Given the description of an element on the screen output the (x, y) to click on. 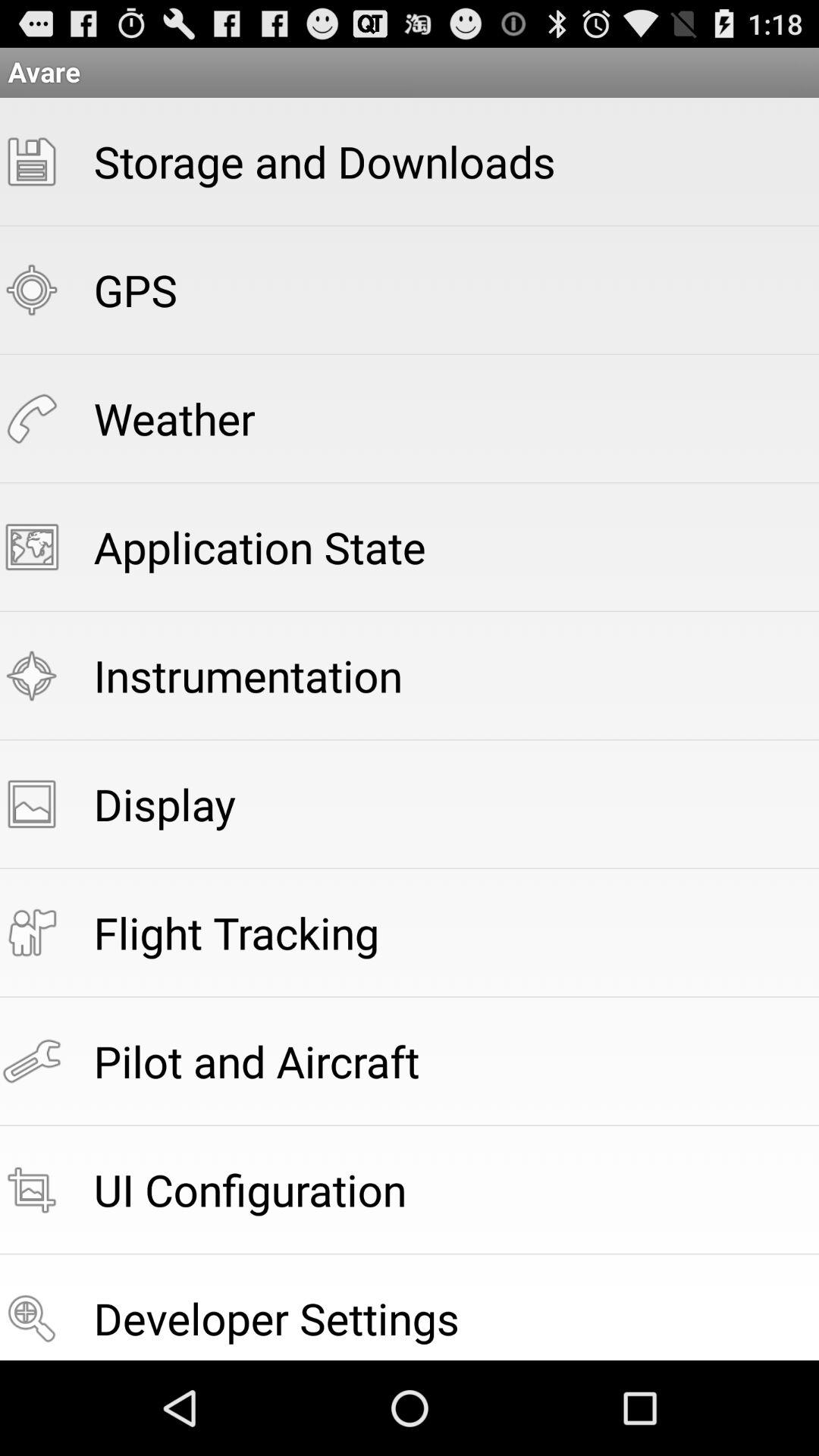
scroll to display icon (164, 803)
